Given the description of an element on the screen output the (x, y) to click on. 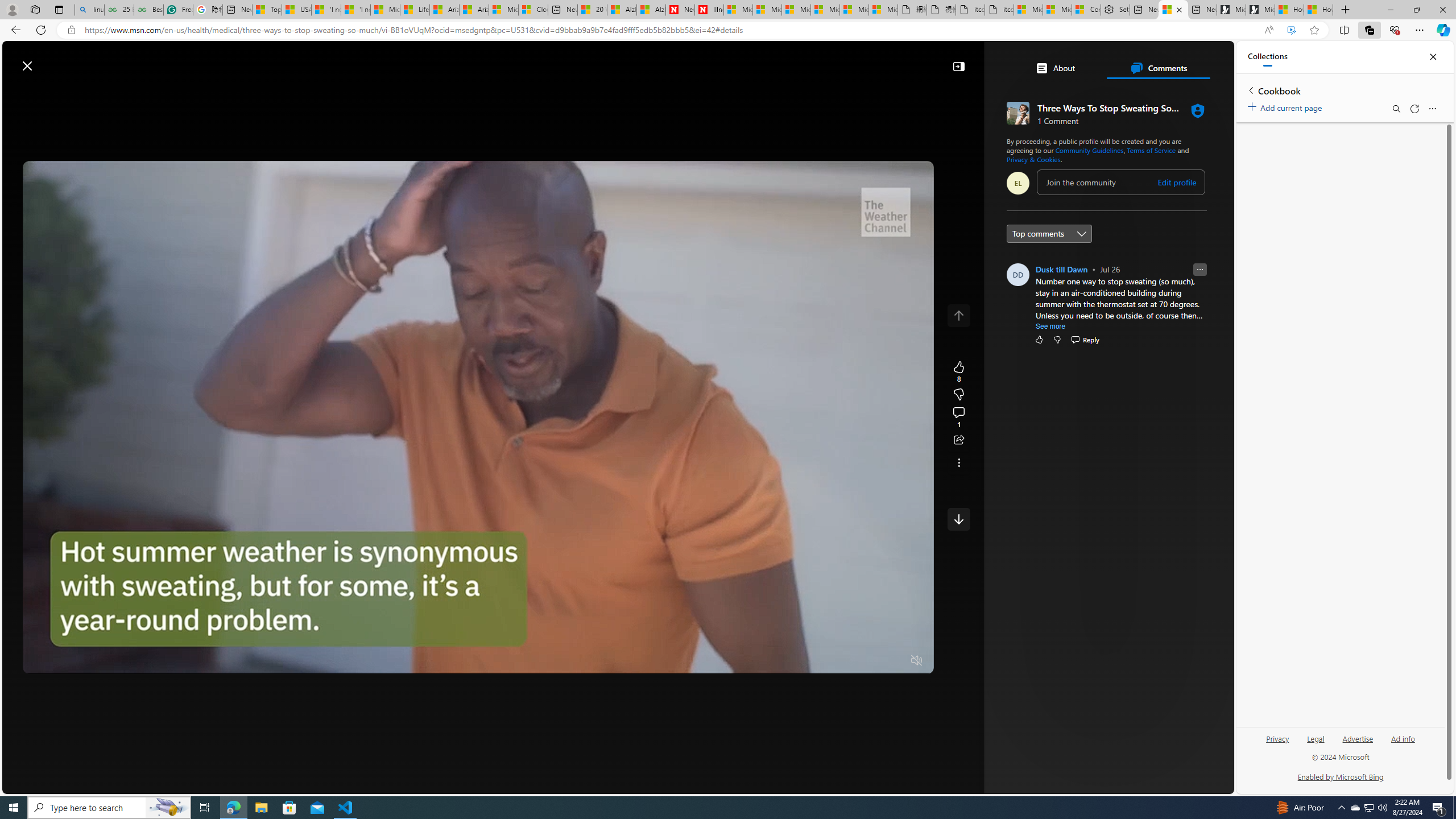
Open settings (1208, 60)
Back to list of collections (1250, 90)
Class: control icon-only (958, 315)
20 Ways to Boost Your Protein Intake at Every Meal (591, 9)
Seek Forward (85, 660)
Privacy & Cookies (1033, 158)
8 Like (958, 371)
Discover (213, 92)
8 (958, 394)
